Given the description of an element on the screen output the (x, y) to click on. 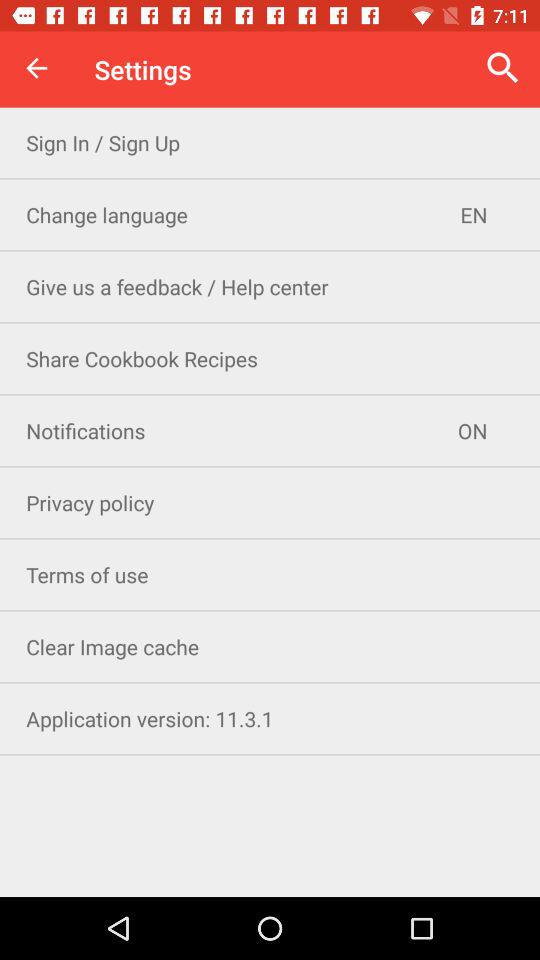
swipe to clear image cache item (270, 646)
